Given the description of an element on the screen output the (x, y) to click on. 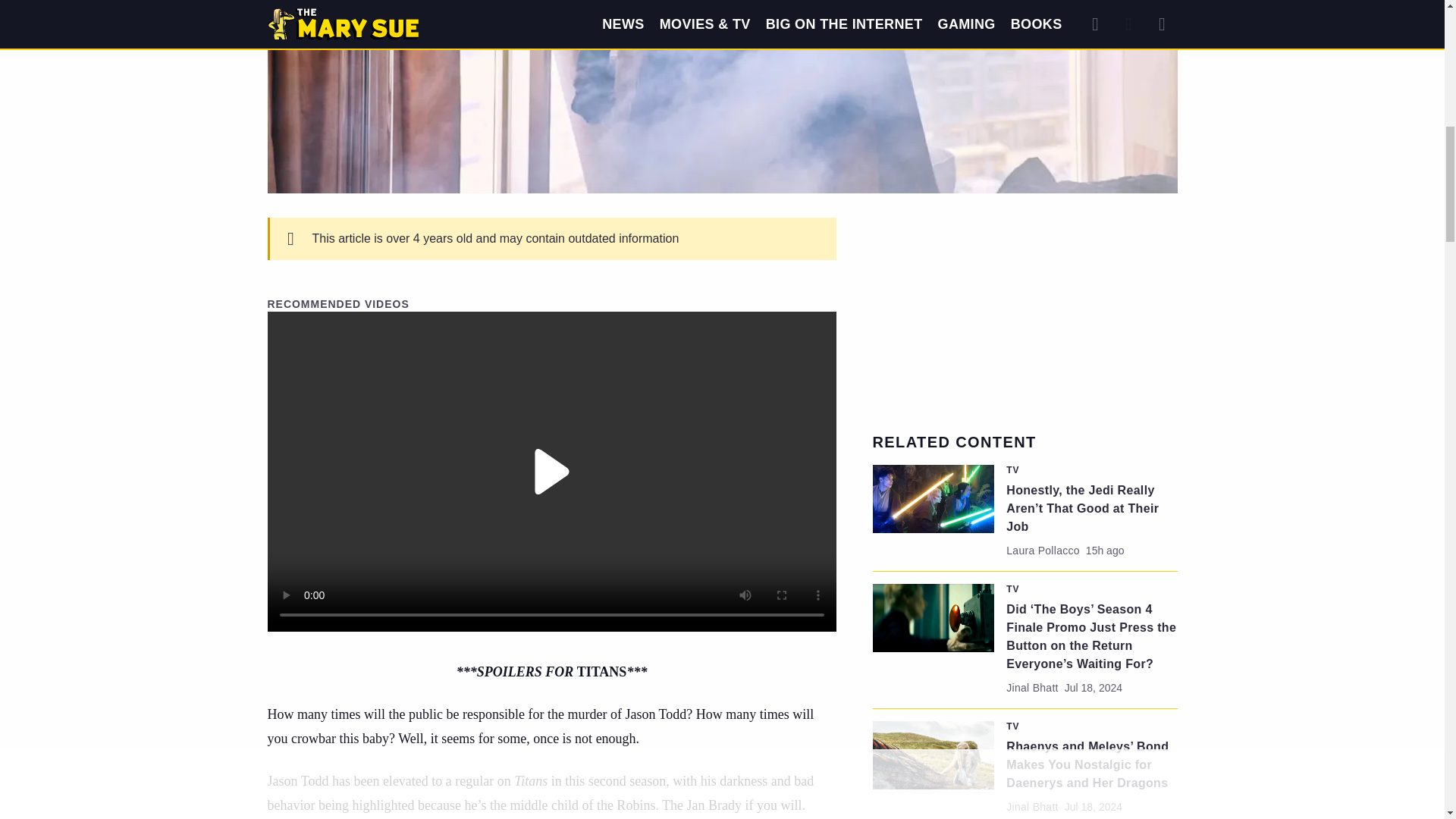
3rd party ad content (1024, 312)
